Given the description of an element on the screen output the (x, y) to click on. 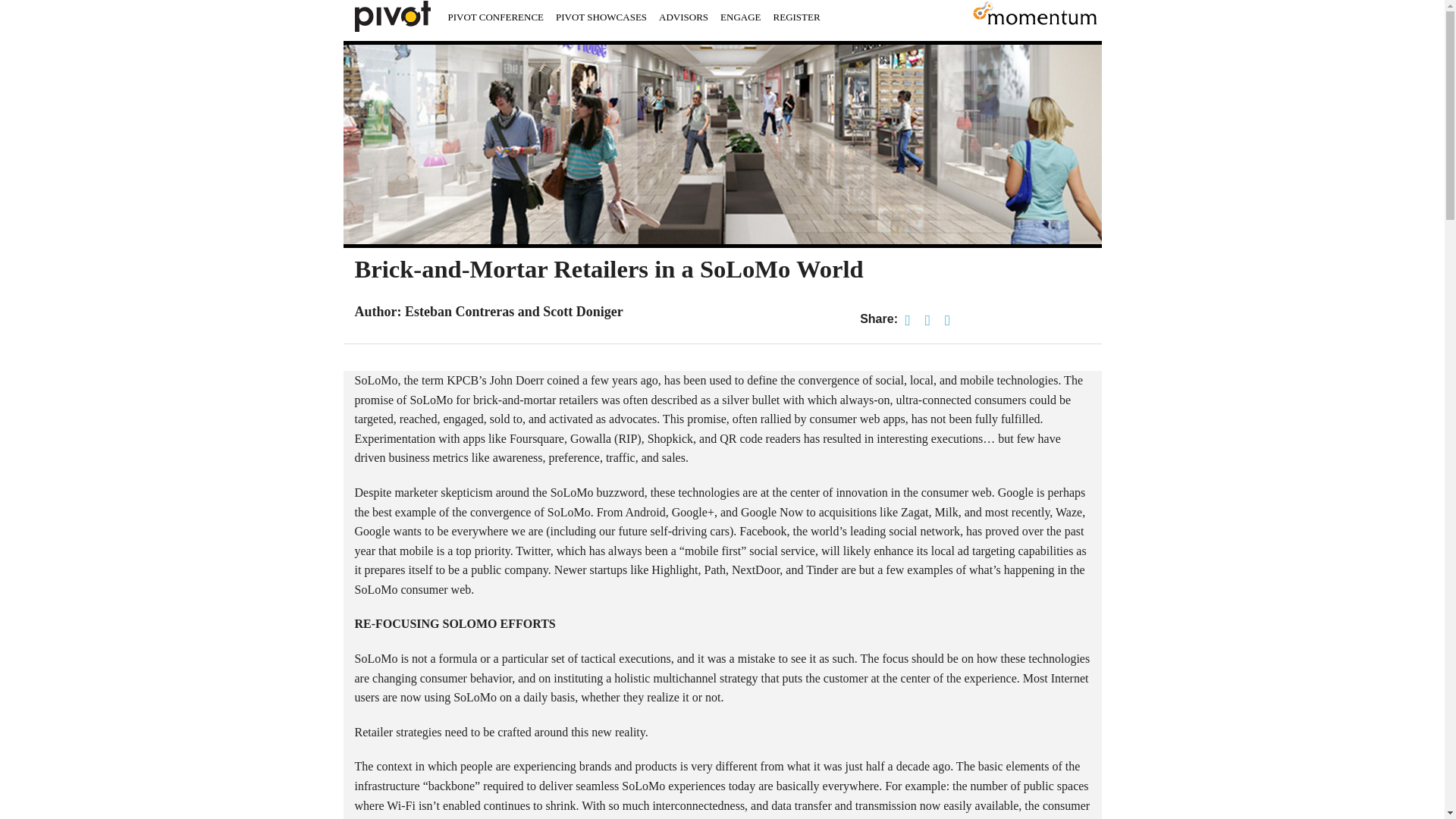
ADVISORS (683, 17)
REGISTER (797, 17)
PIVOT SHOWCASES (601, 17)
PIVOT CONFERENCE (495, 17)
ENGAGE (740, 17)
